Given the description of an element on the screen output the (x, y) to click on. 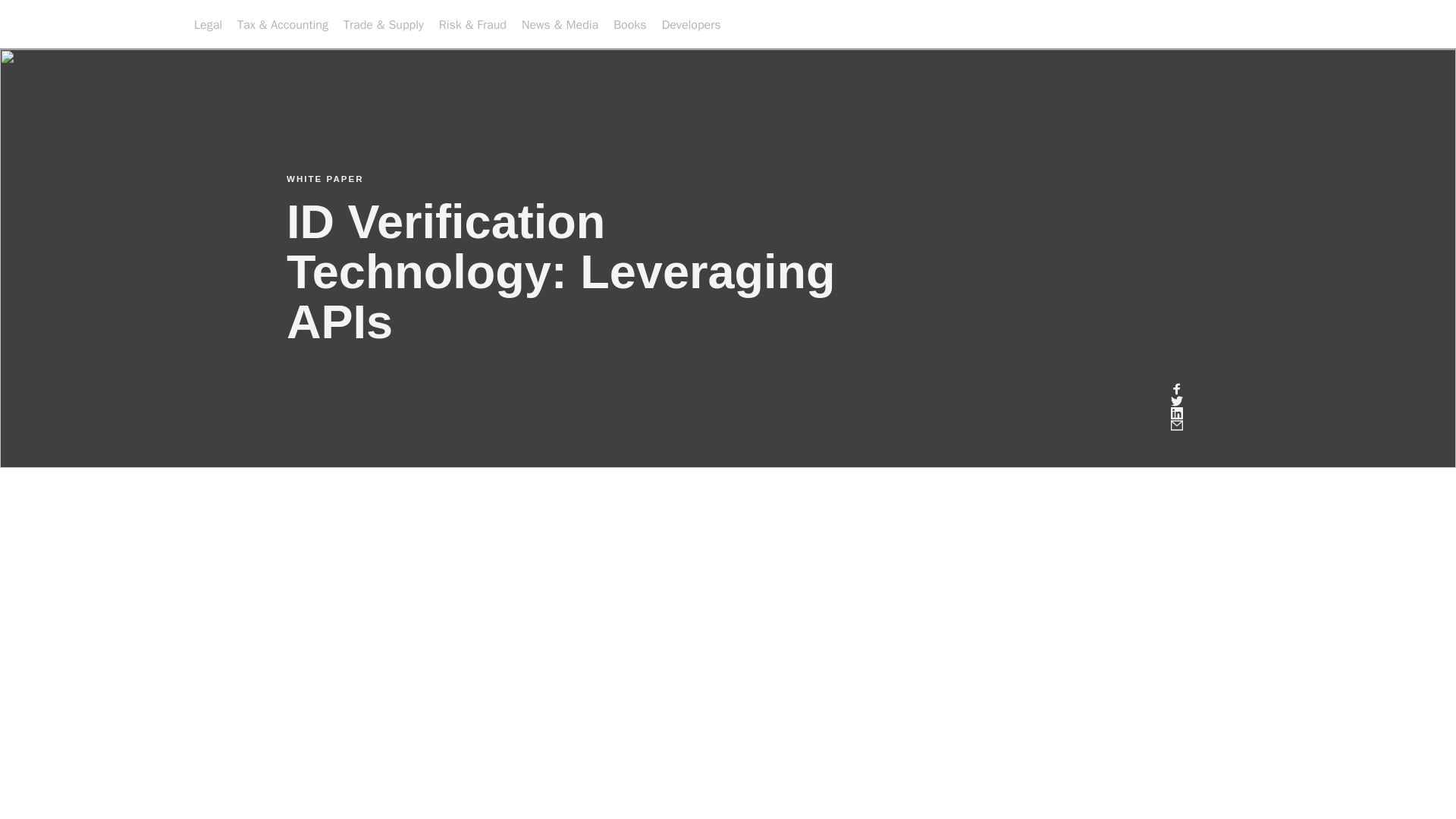
Legal (208, 24)
Books (629, 24)
Developers (691, 24)
